Given the description of an element on the screen output the (x, y) to click on. 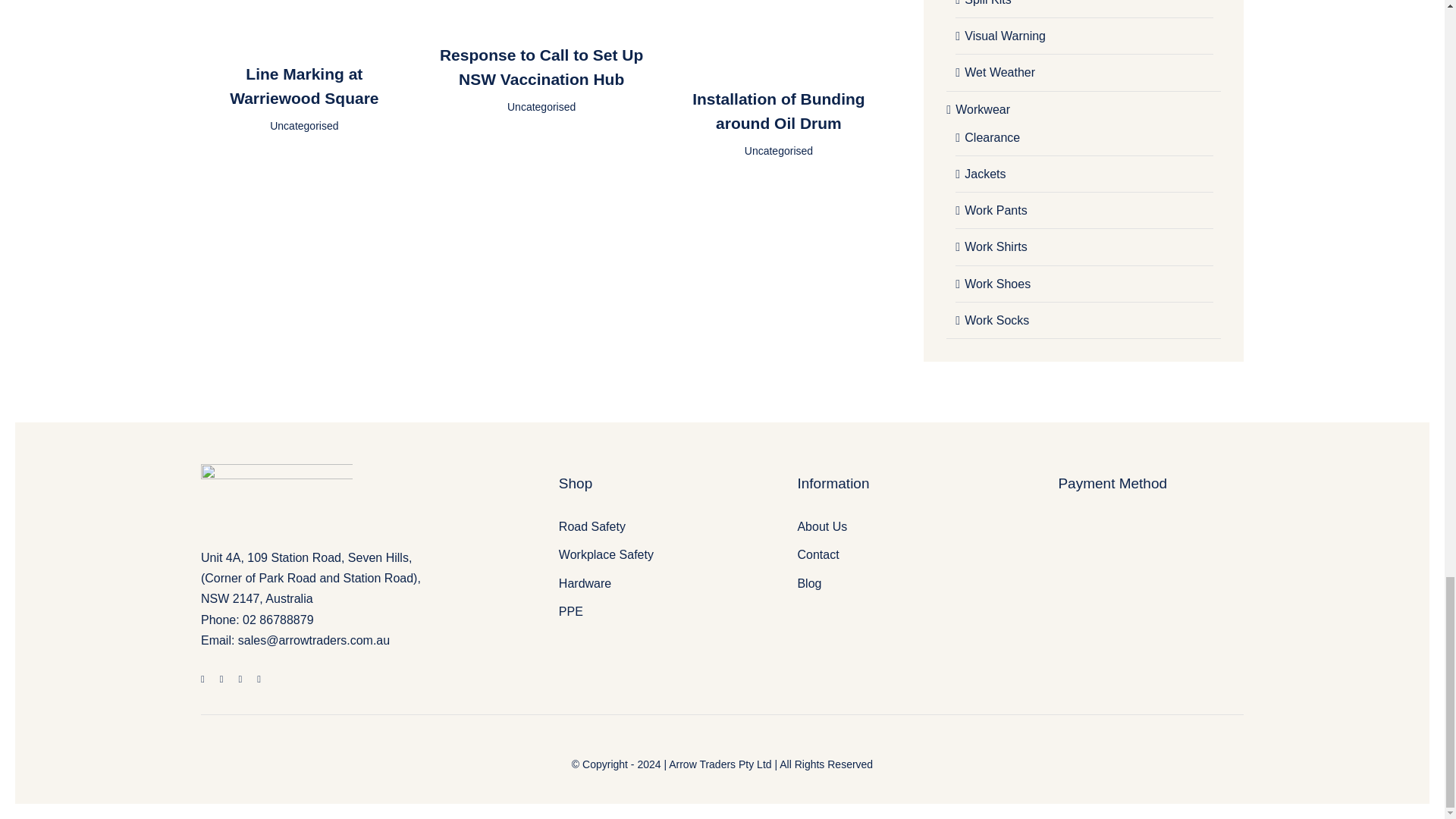
Arrow-Safety-Logo (276, 499)
Uncategorised (303, 125)
Uncategorised (778, 150)
Uncategorised (540, 106)
